Given the description of an element on the screen output the (x, y) to click on. 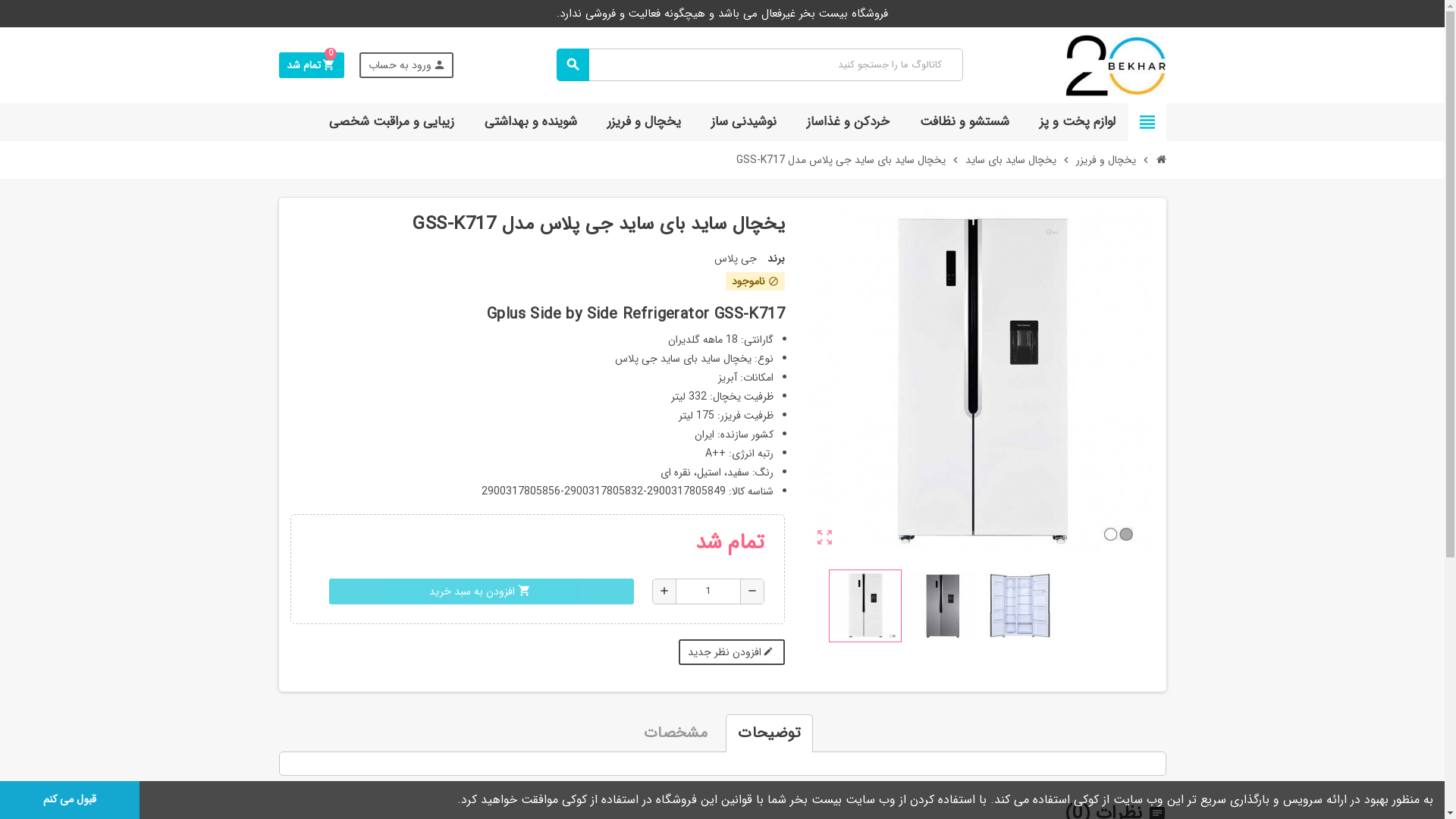
search Element type: text (572, 64)
remove Element type: text (751, 591)
add Element type: text (663, 591)
